Given the description of an element on the screen output the (x, y) to click on. 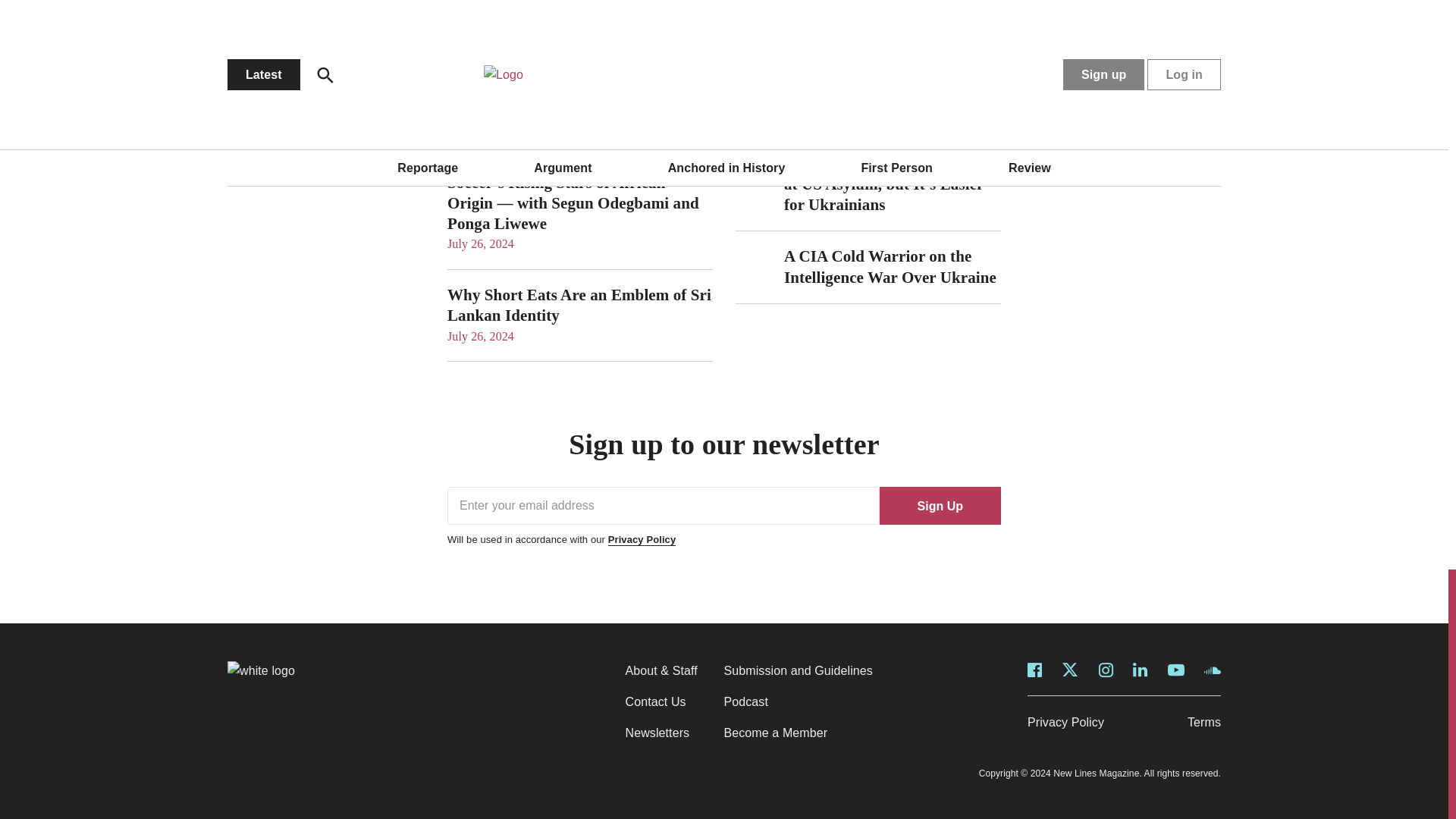
Sign Up (940, 505)
SEE ALL (692, 37)
Sign Up (940, 505)
A CIA Cold Warrior on the Intelligence War Over Ukraine (889, 266)
Why Short Eats Are an Emblem of Sri Lankan Identity (578, 304)
SEE ALL (980, 37)
